Given the description of an element on the screen output the (x, y) to click on. 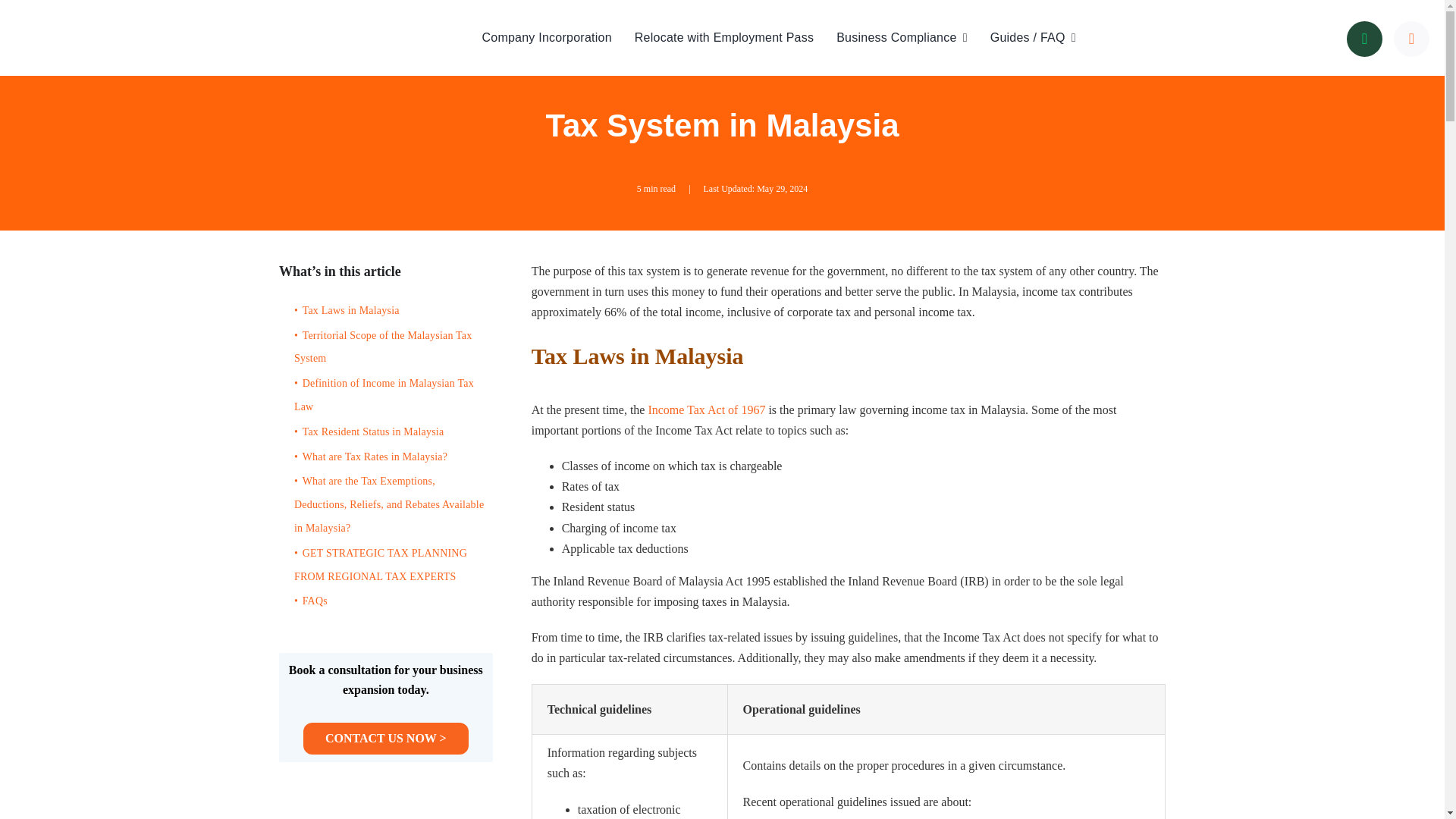
Income Tax Act of 1967 (706, 409)
Territorial Scope of the Malaysian Tax System (389, 347)
Business Compliance (901, 37)
What are Tax Rates in Malaysia? (389, 457)
Relocate with Employment Pass (723, 37)
Company Incorporation (546, 37)
Tax Laws in Malaysia (389, 310)
FAQs (389, 601)
Company Incorporation (546, 37)
Business Compliance (901, 37)
Tax Resident Status in Malaysia (389, 432)
GET STRATEGIC TAX PLANNING FROM REGIONAL TAX EXPERTS (389, 565)
Definition of Income in Malaysian Tax Law (389, 395)
Relocate with Employment Pass (723, 37)
